Given the description of an element on the screen output the (x, y) to click on. 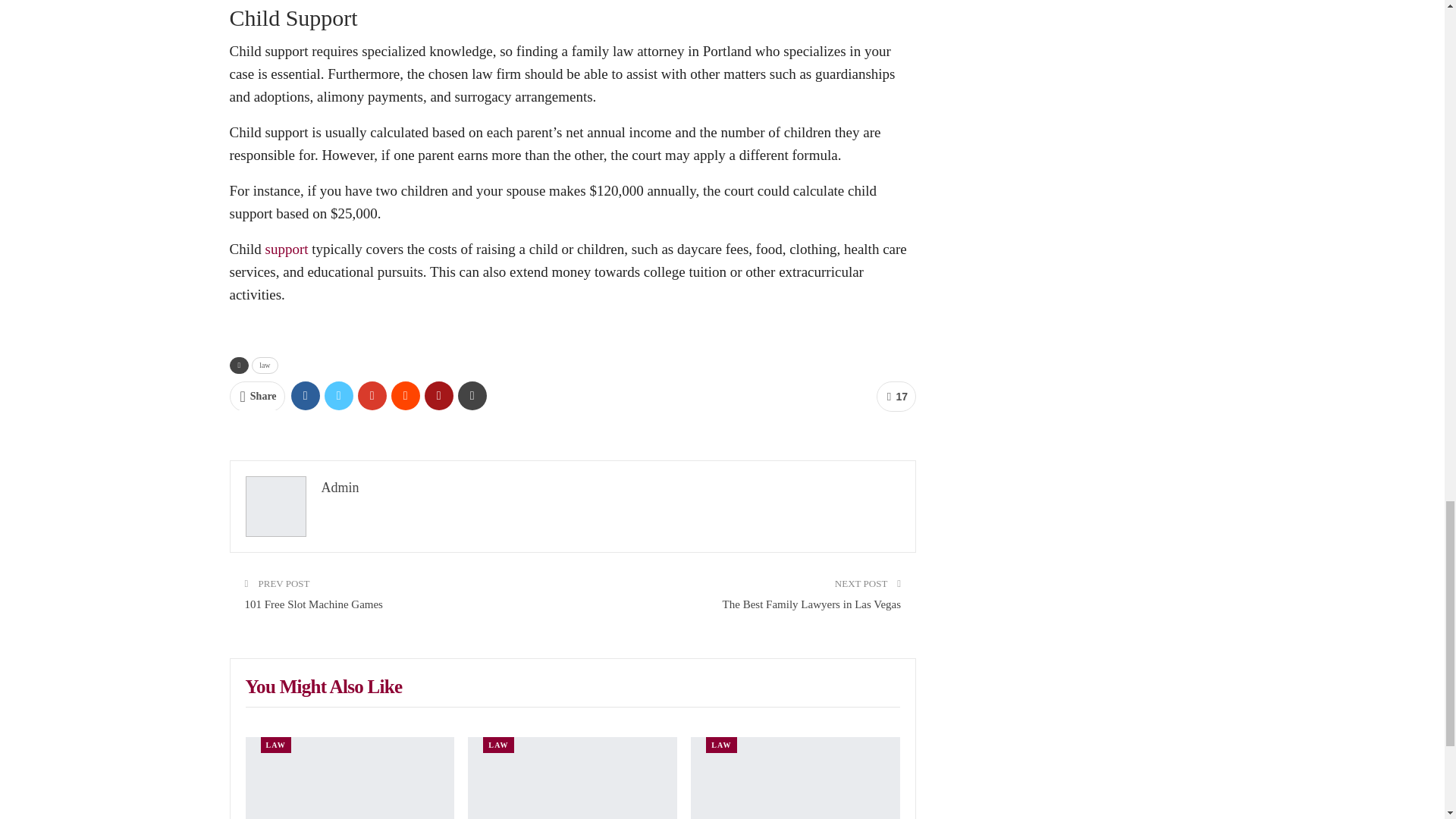
Taking a Look at the Steps Involved in Conveyancing (794, 778)
Traffic Ticket Lawyer and Paralegal Services (350, 778)
